Given the description of an element on the screen output the (x, y) to click on. 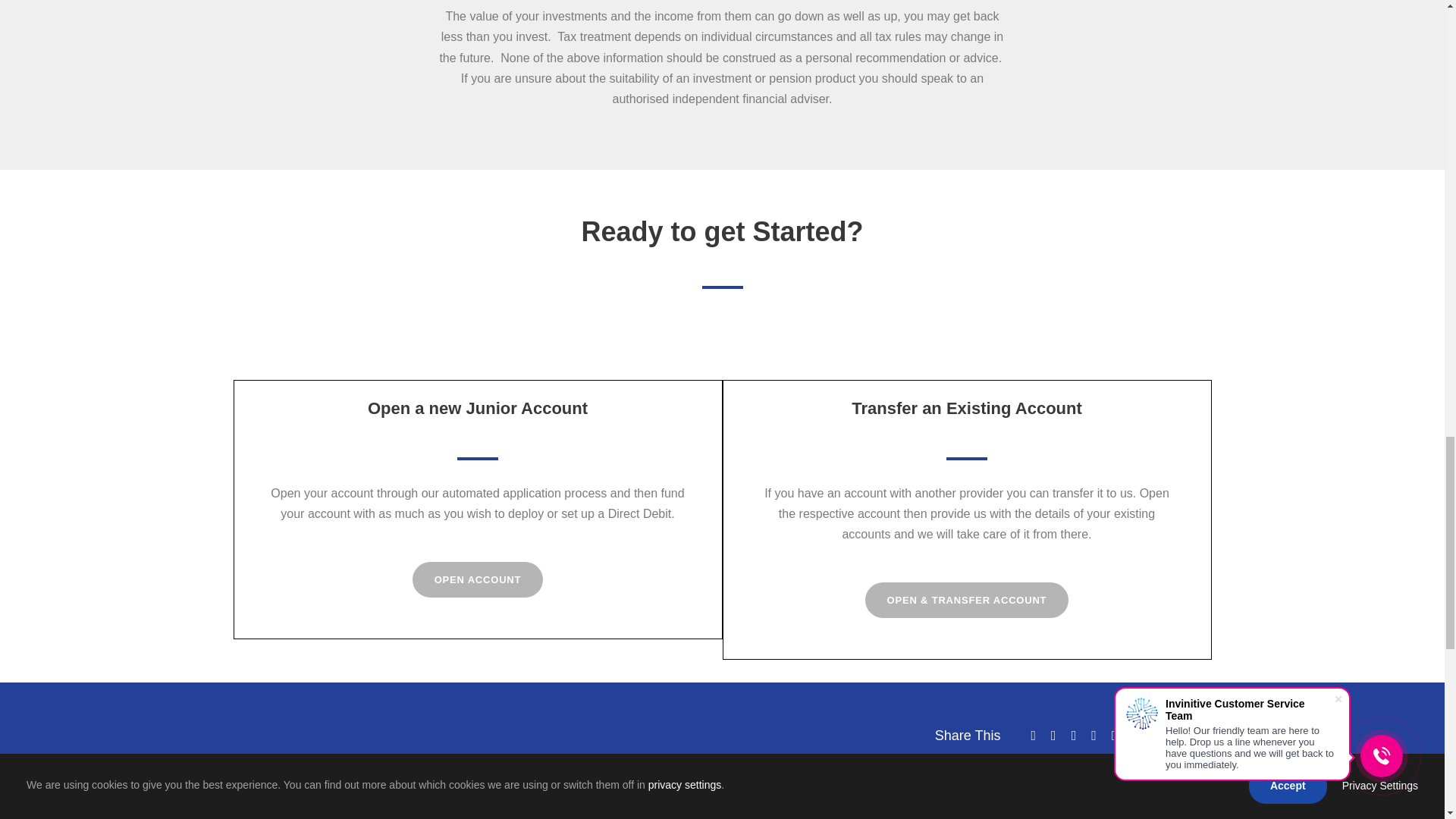
OPEN ACCOUNT (477, 579)
